Given the description of an element on the screen output the (x, y) to click on. 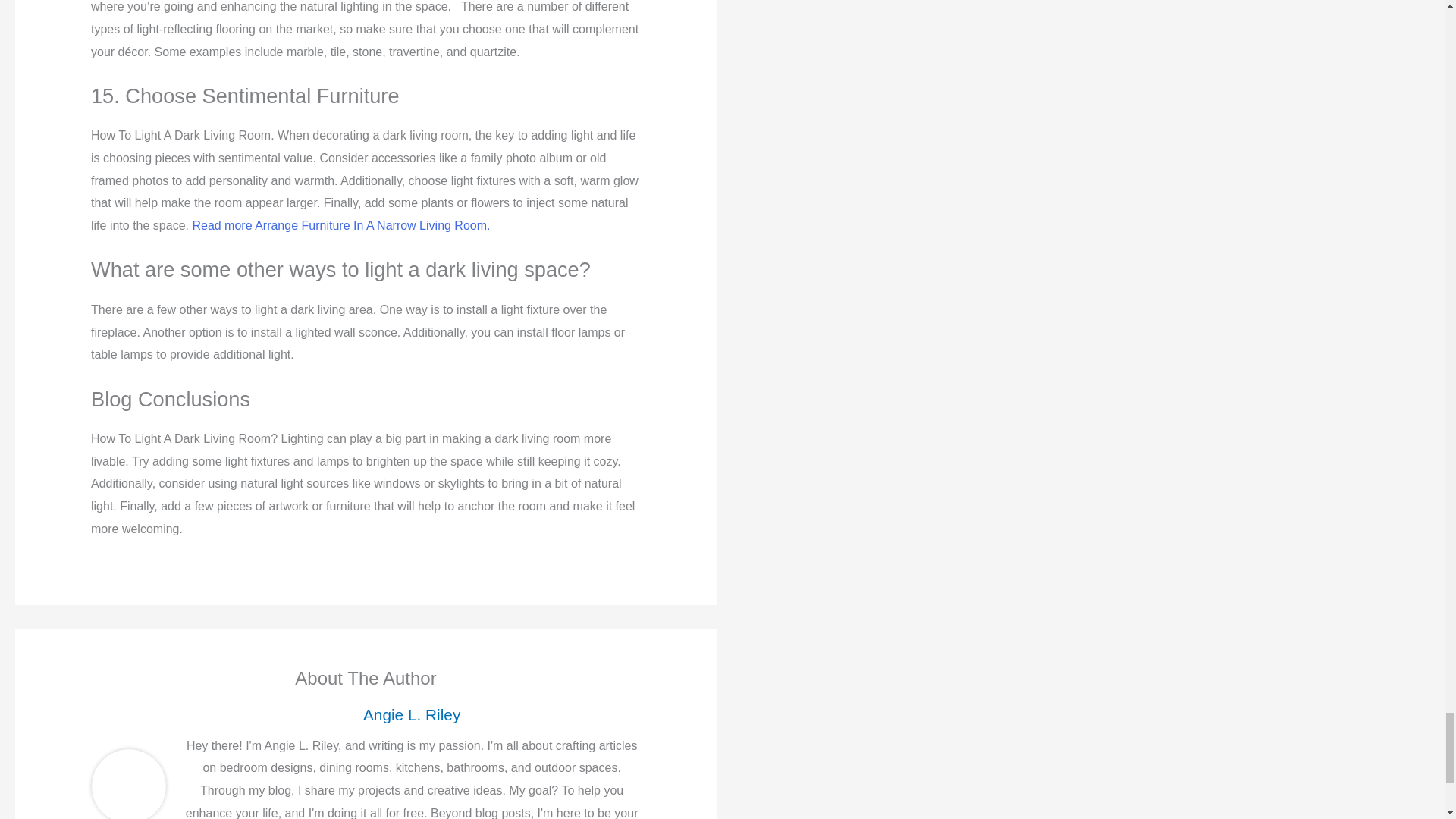
Angie L. Riley (411, 714)
Read more Arrange Furniture In A Narrow Living Room. (340, 225)
